Given the description of an element on the screen output the (x, y) to click on. 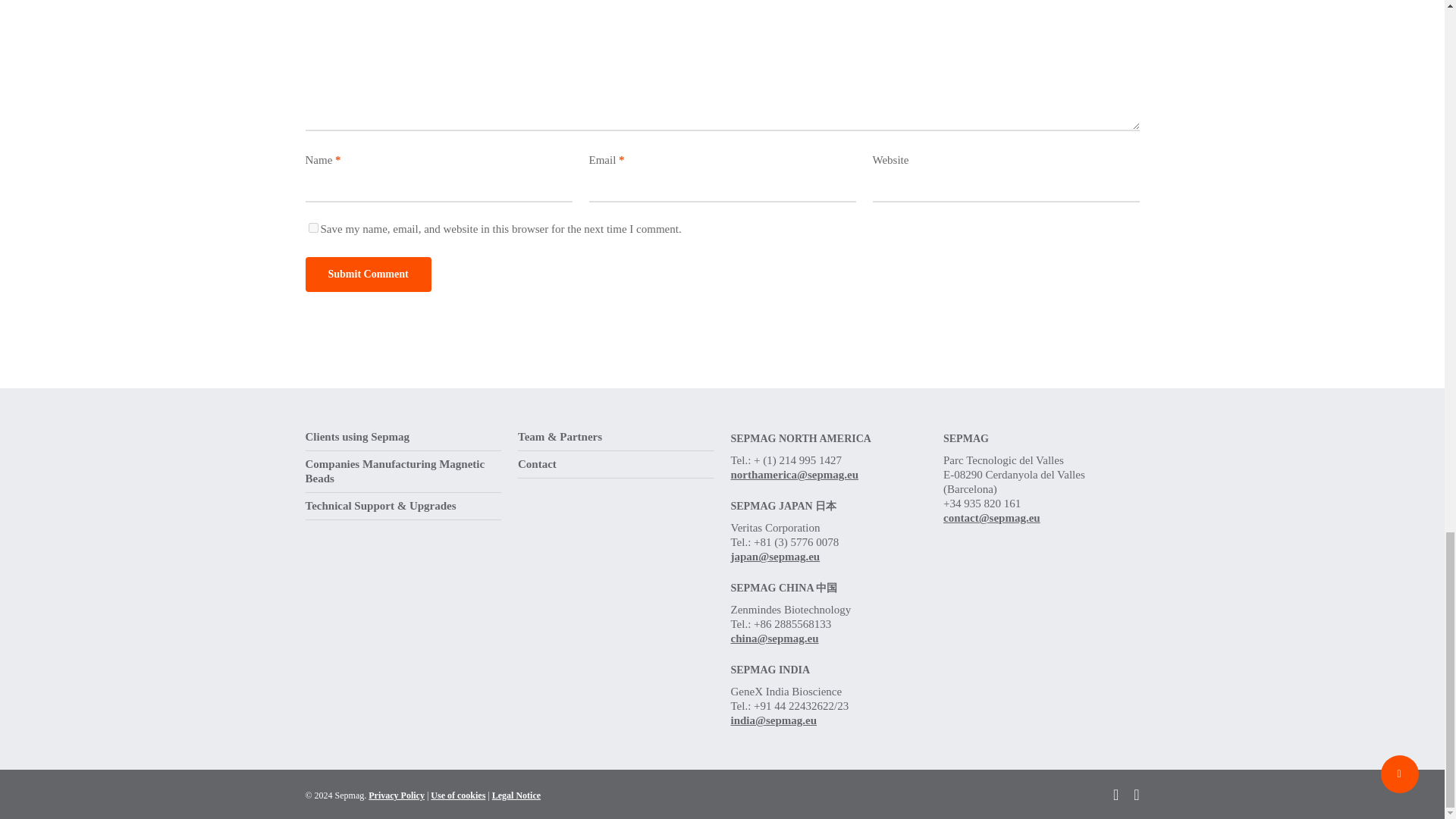
yes (312, 227)
Submit Comment (367, 274)
Submit Comment (367, 274)
Contact (616, 464)
Companies Manufacturing Magnetic Beads (402, 471)
Clients using Sepmag (402, 439)
